Given the description of an element on the screen output the (x, y) to click on. 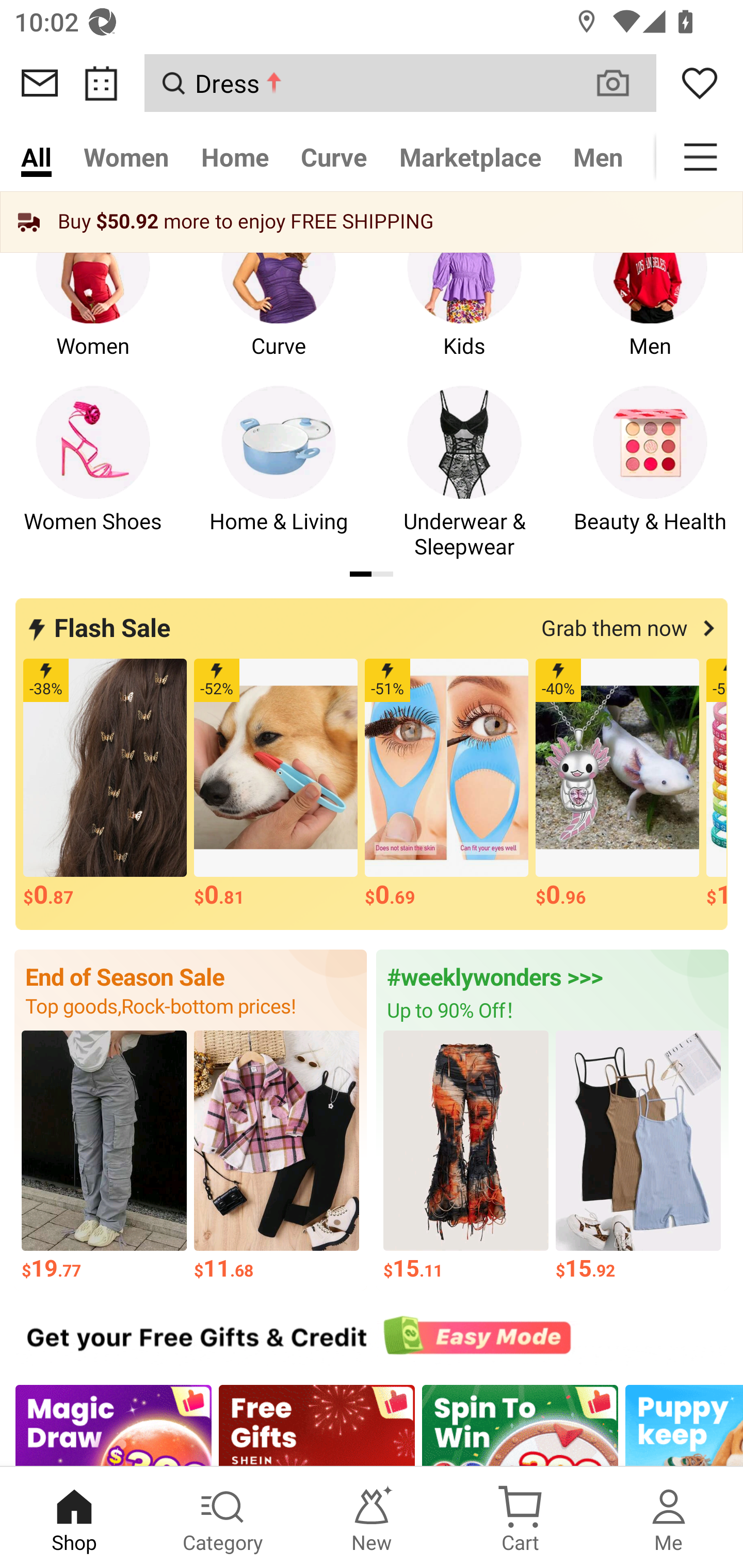
Wishlist (699, 82)
VISUAL SEARCH (623, 82)
All (36, 156)
Women (126, 156)
Home (234, 156)
Curve (333, 156)
Marketplace (470, 156)
Men (597, 156)
Buy $50.92 more to enjoy FREE SHIPPING (371, 221)
Women (92, 297)
Curve (278, 297)
Kids (464, 297)
Men (650, 297)
Women Shoes (92, 473)
Home & Living (278, 473)
Underwear & Sleepwear (464, 473)
Beauty & Health (650, 473)
$19.77 Price $19.77 (103, 1156)
$11.68 Price $11.68 (276, 1156)
$15.11 Price $15.11 (465, 1156)
$15.92 Price $15.92 (638, 1156)
Category (222, 1517)
New (371, 1517)
Cart (519, 1517)
Me (668, 1517)
